Given the description of an element on the screen output the (x, y) to click on. 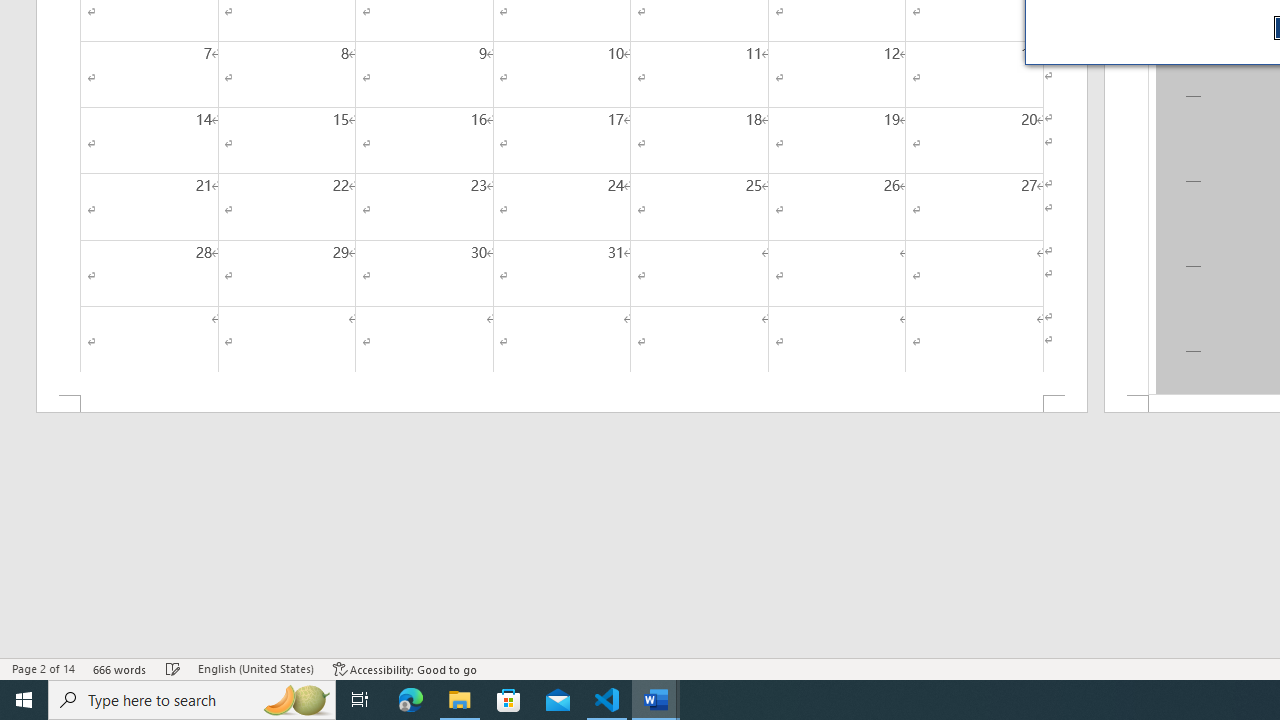
Start (24, 699)
Search highlights icon opens search home window (295, 699)
